Given the description of an element on the screen output the (x, y) to click on. 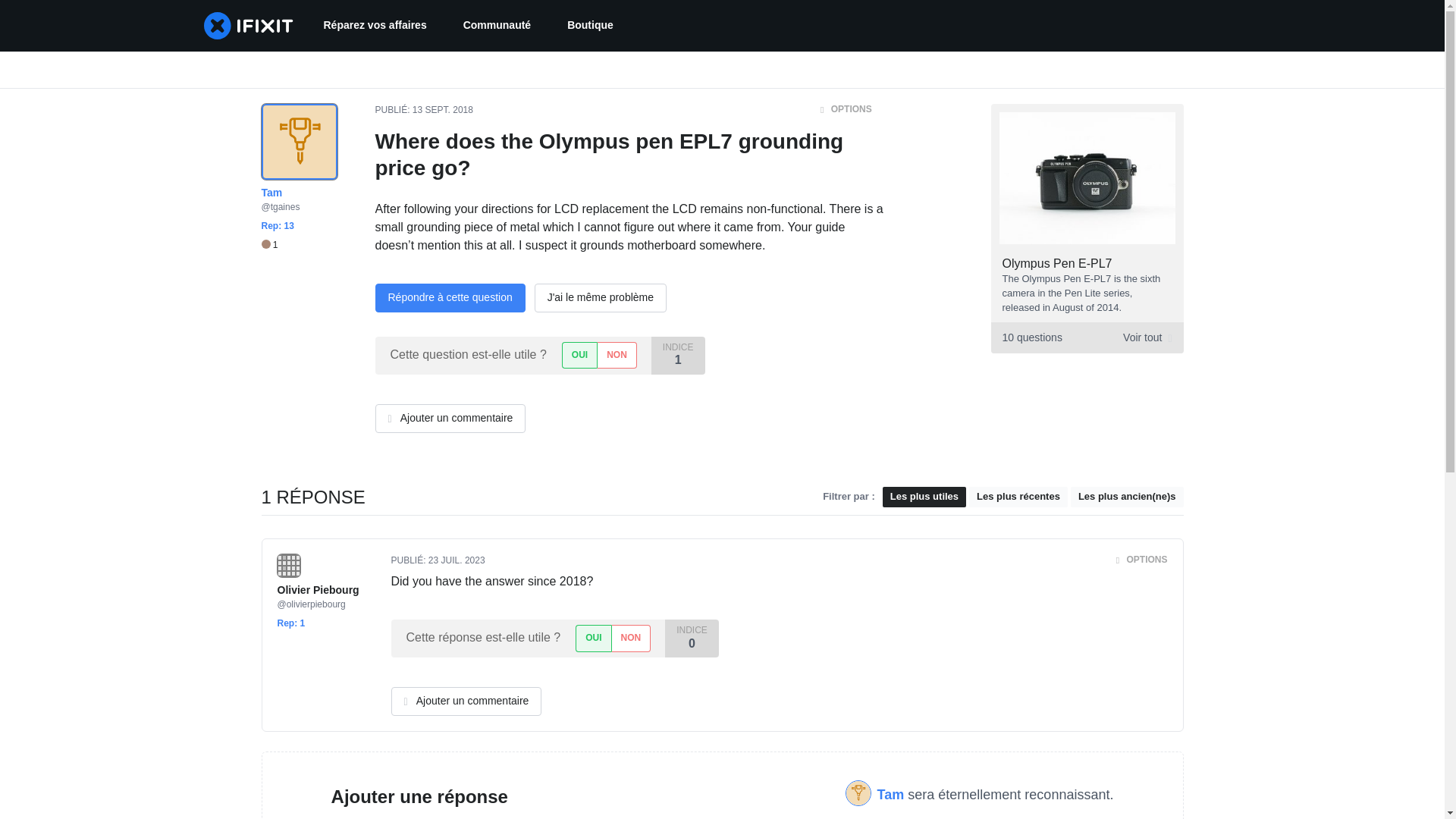
Les plus utiles (924, 496)
NON (616, 355)
Sun, 23 Jul 2023 07:19:17 -0700 (456, 560)
OUI (579, 355)
1 badges Bronze (269, 245)
Boutique (589, 25)
NON (630, 637)
OUI (592, 637)
Ajouter un commentaire (449, 418)
Ajouter un commentaire (466, 701)
Thu, 13 Sep 2018 10:24:30 -0700 (442, 109)
Olympus Pen E-PL7 (1086, 337)
1 (1057, 263)
